Given the description of an element on the screen output the (x, y) to click on. 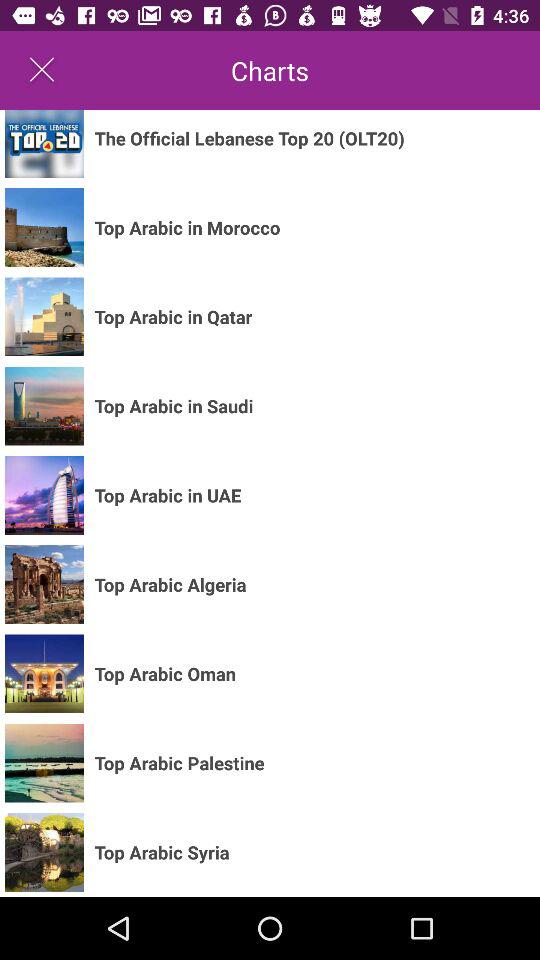
turn on the icon next to the charts (42, 70)
